Given the description of an element on the screen output the (x, y) to click on. 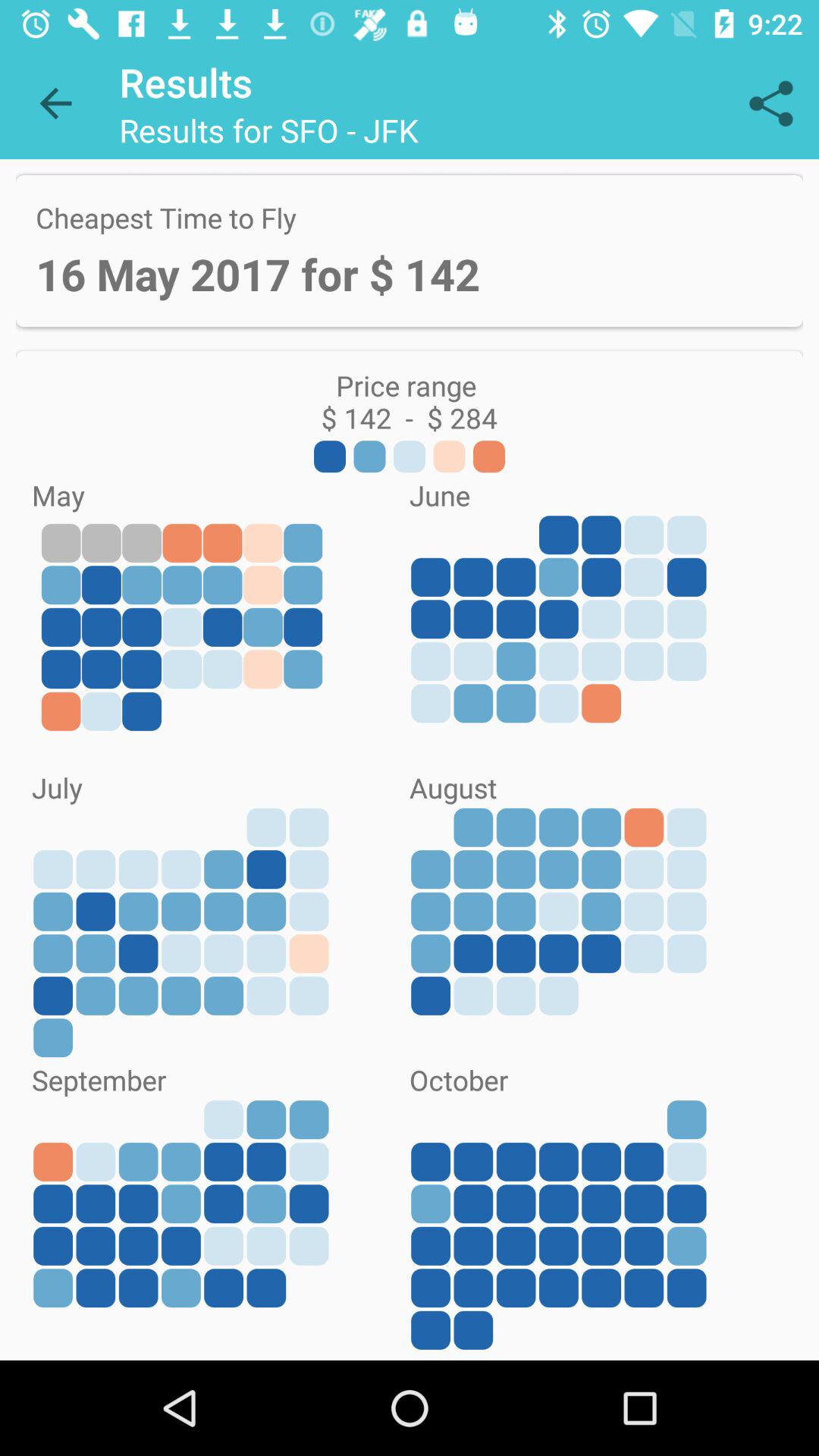
choose the app above the cheapest time to (55, 103)
